Given the description of an element on the screen output the (x, y) to click on. 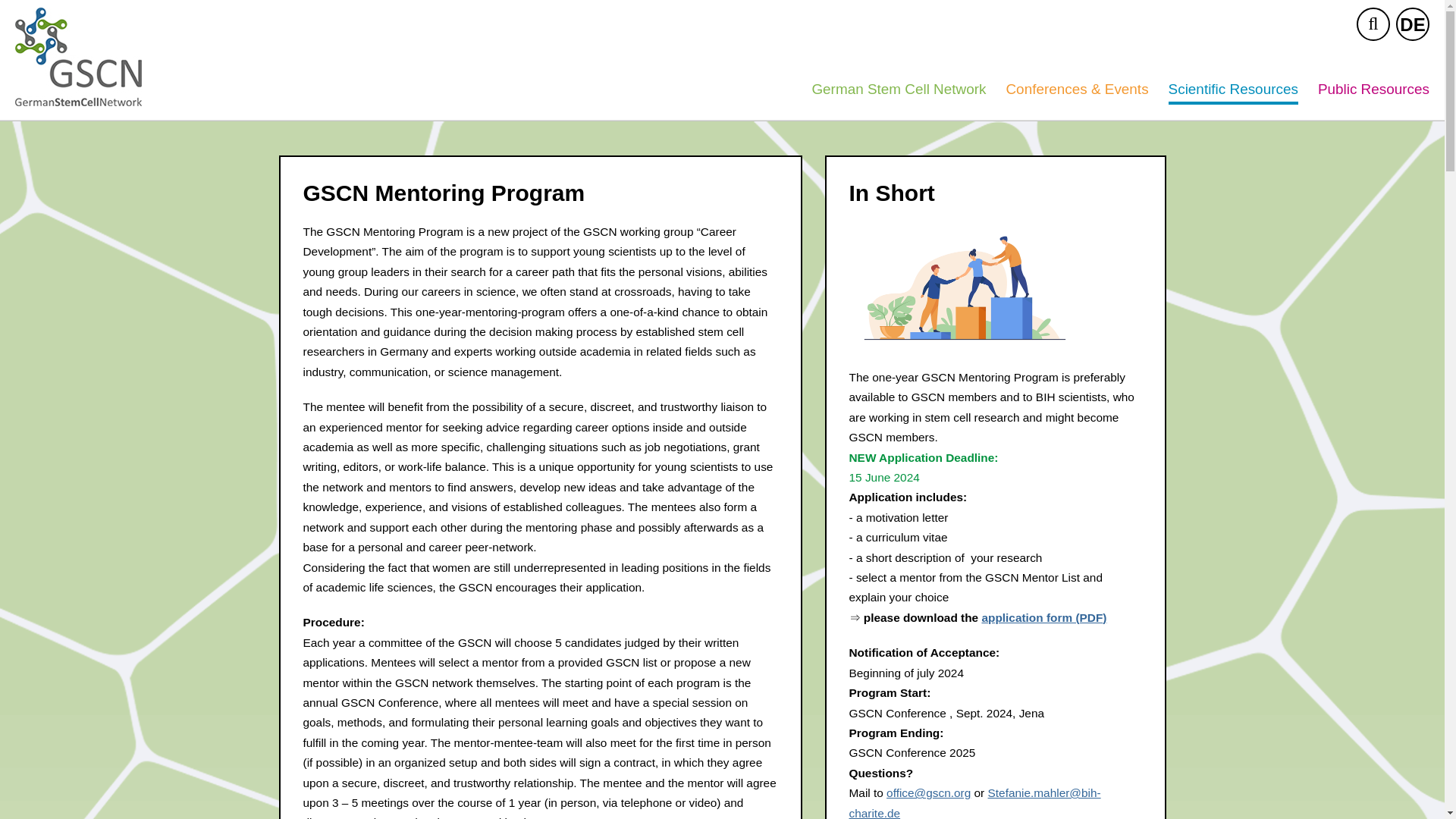
Webseite auf Deutsch anzeigen (1412, 23)
DE (1412, 23)
gscn.org (77, 55)
German Stem Cell Network (902, 90)
